Given the description of an element on the screen output the (x, y) to click on. 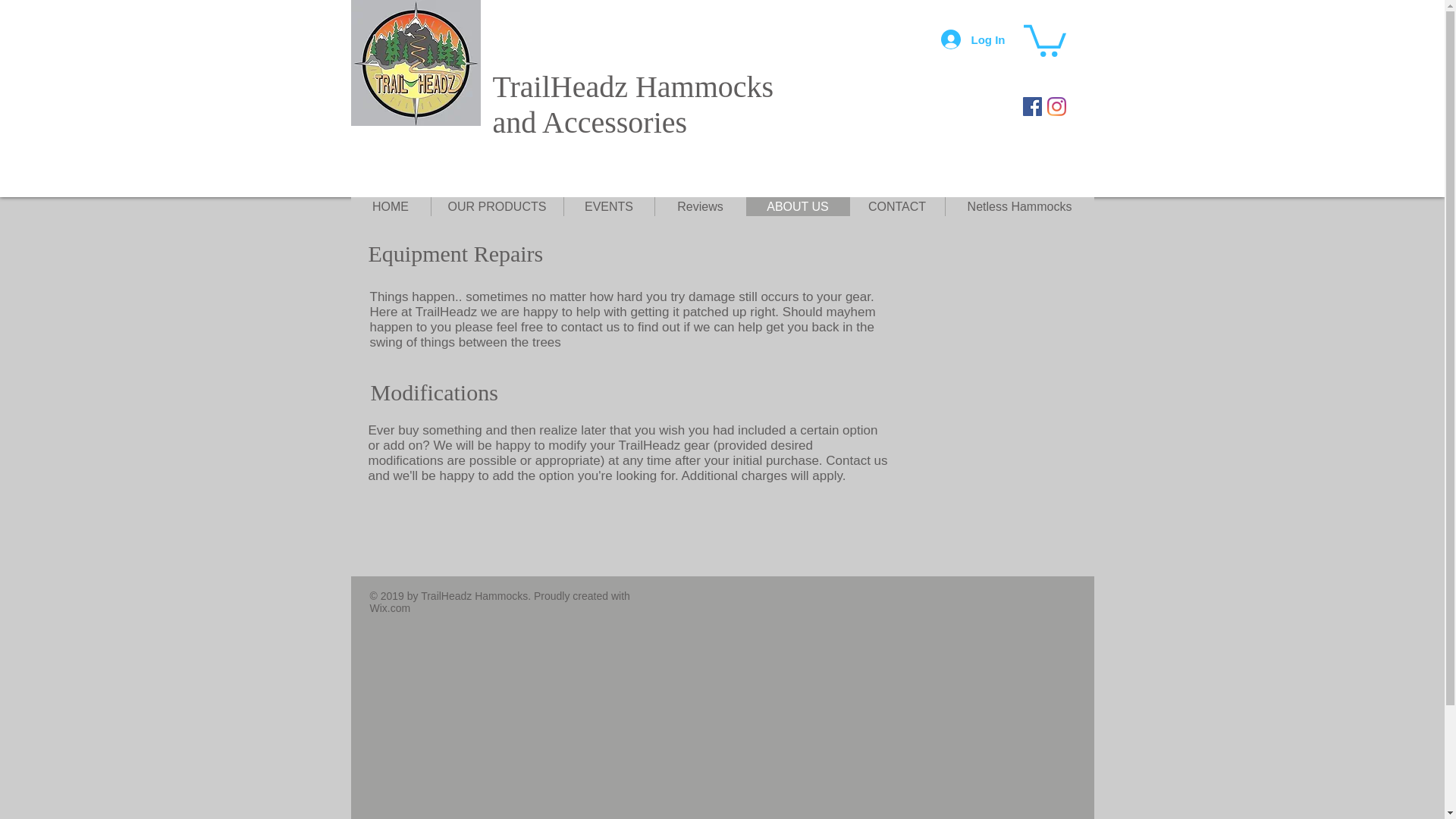
Log In (972, 39)
HOME (389, 206)
OUR PRODUCTS (633, 104)
EVENTS (496, 206)
Netless Hammocks (607, 206)
ABOUT US (1019, 206)
Wix.com (796, 206)
CONTACT (389, 607)
Reviews (896, 206)
